Given the description of an element on the screen output the (x, y) to click on. 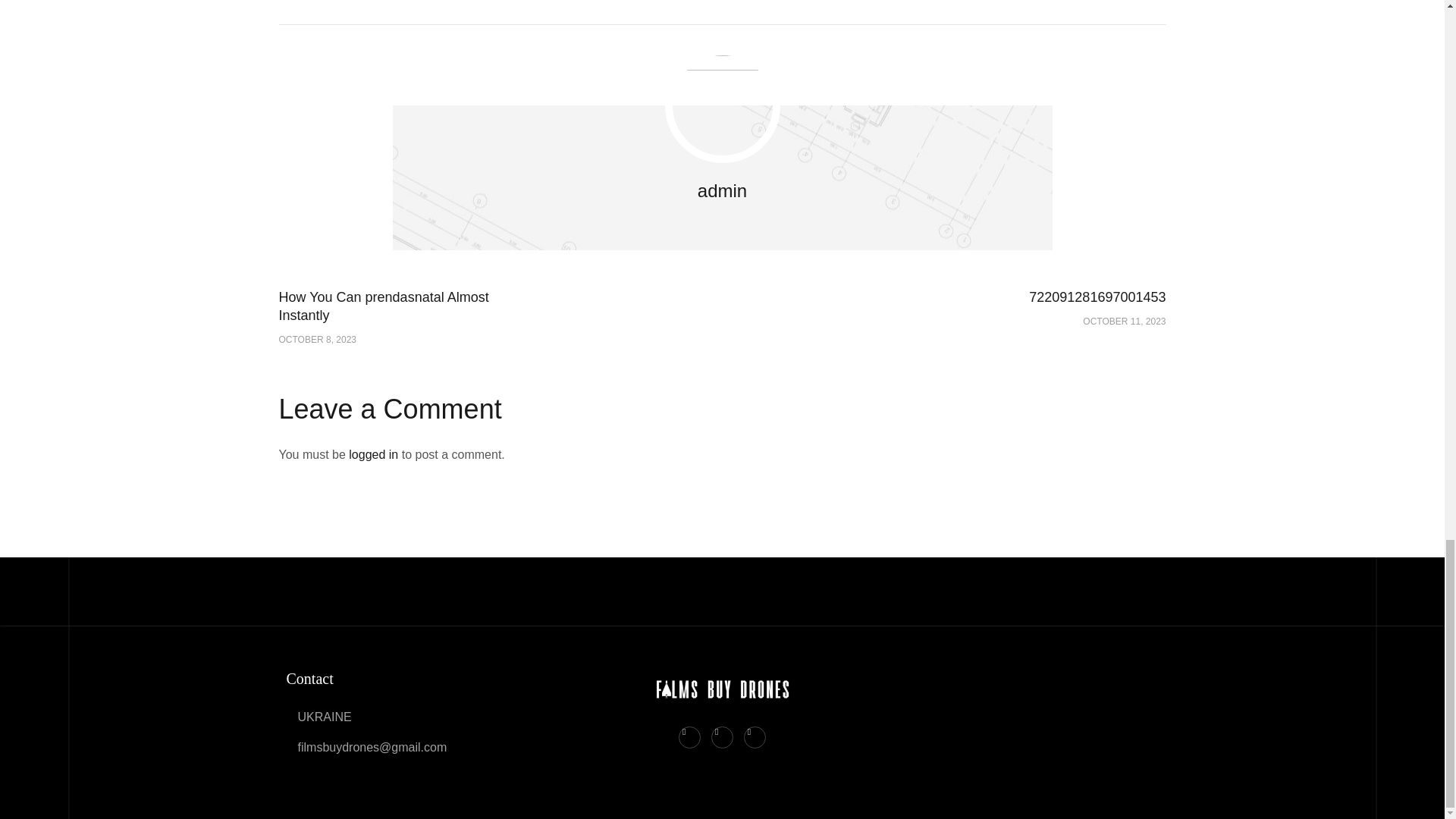
logged in (392, 316)
